Given the description of an element on the screen output the (x, y) to click on. 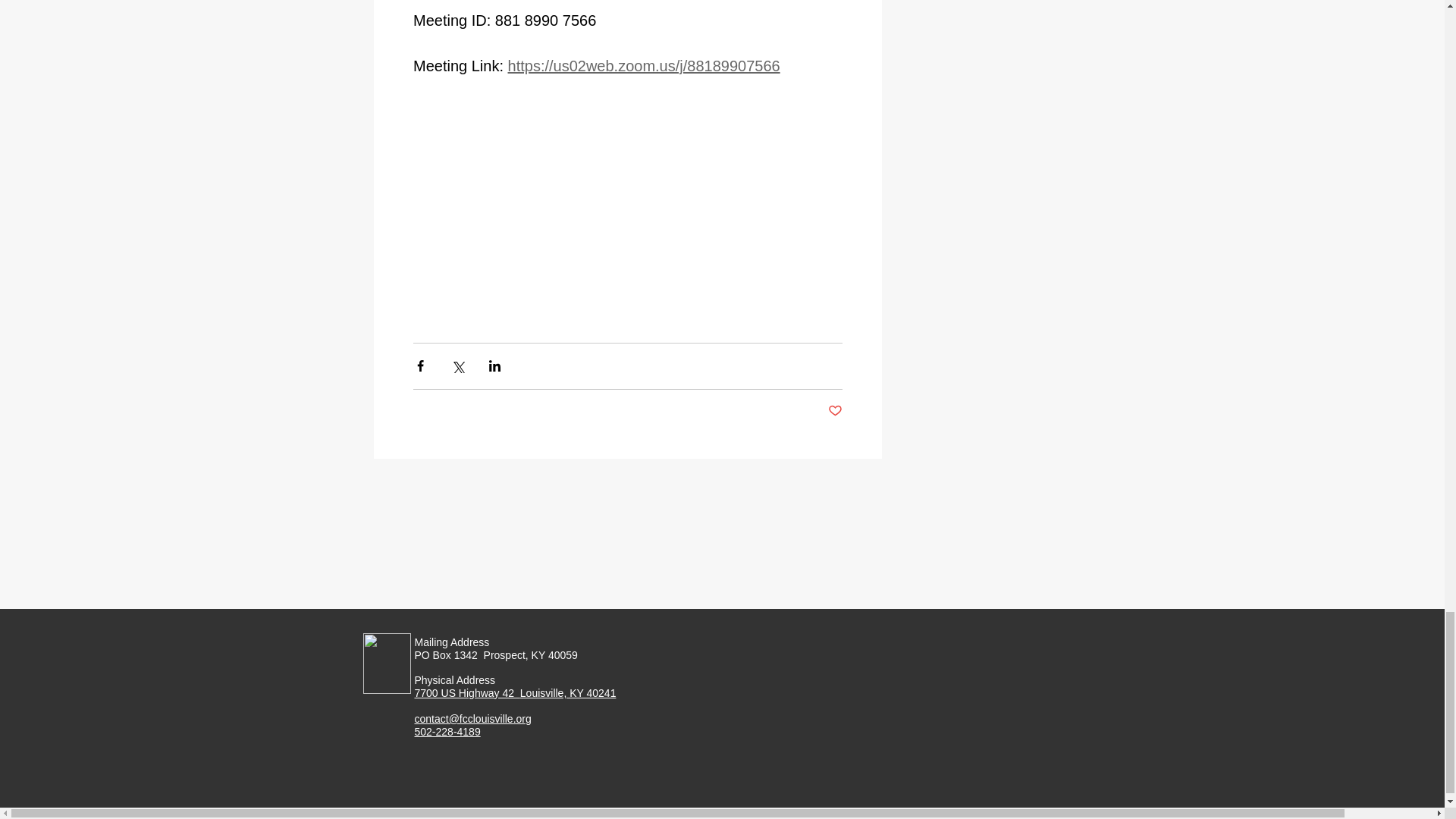
Post not marked as liked (835, 411)
7700 US Highway 42  Louisville, KY 40241 (514, 693)
502-228-4189 (446, 731)
